Given the description of an element on the screen output the (x, y) to click on. 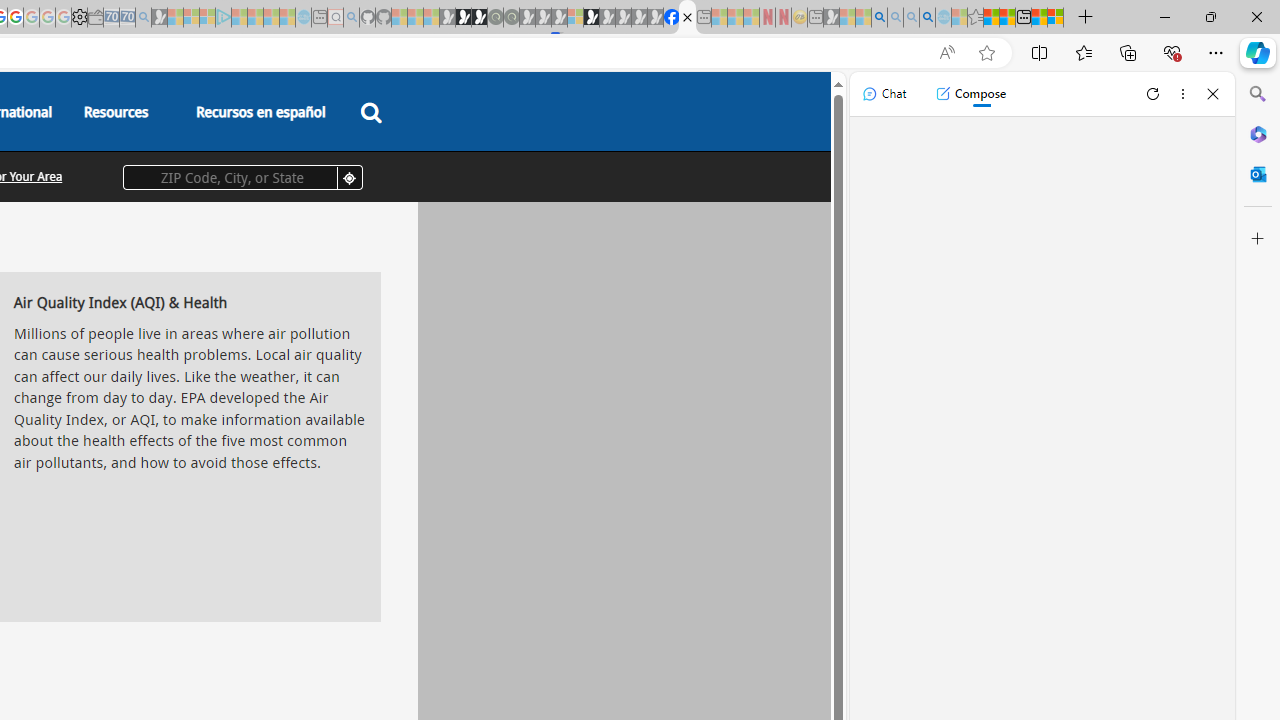
Aberdeen, Hong Kong SAR weather forecast | Microsoft Weather (1007, 17)
ZIP Code, City, or State (242, 177)
Compose (970, 93)
